Given the description of an element on the screen output the (x, y) to click on. 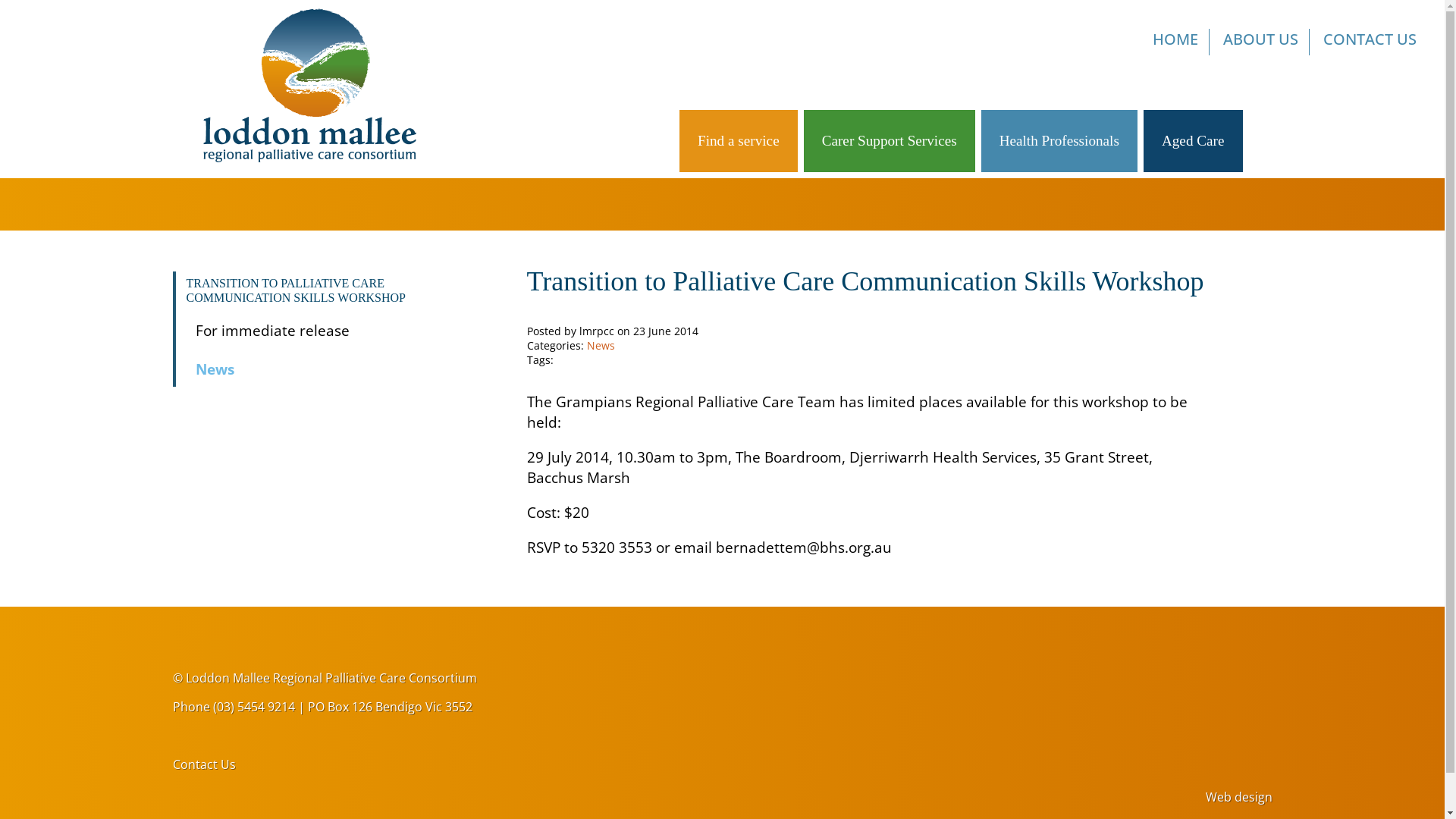
News Element type: text (340, 368)
Find a service Element type: text (738, 140)
Web design Element type: text (1238, 796)
CONTACT US Element type: text (1369, 41)
News Element type: text (600, 345)
For immediate release Element type: text (340, 329)
ABOUT US Element type: text (1260, 41)
HOME Element type: text (1175, 41)
Contact Us Element type: text (203, 764)
Aged Care Element type: text (1192, 140)
Carer Support Services Element type: text (889, 140)
Health Professionals Element type: text (1059, 140)
